Given the description of an element on the screen output the (x, y) to click on. 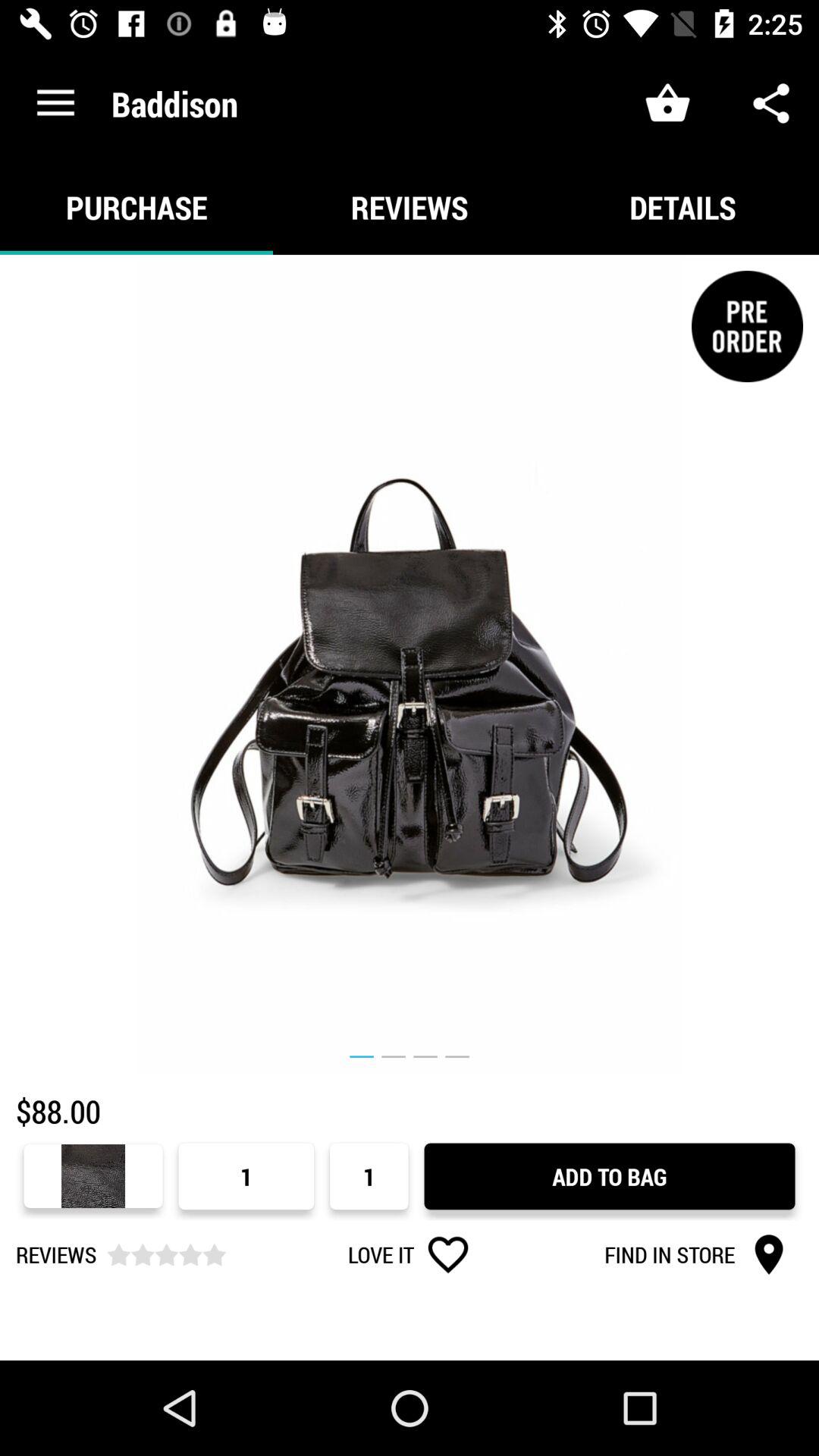
turn on icon below the purchase (409, 663)
